Given the description of an element on the screen output the (x, y) to click on. 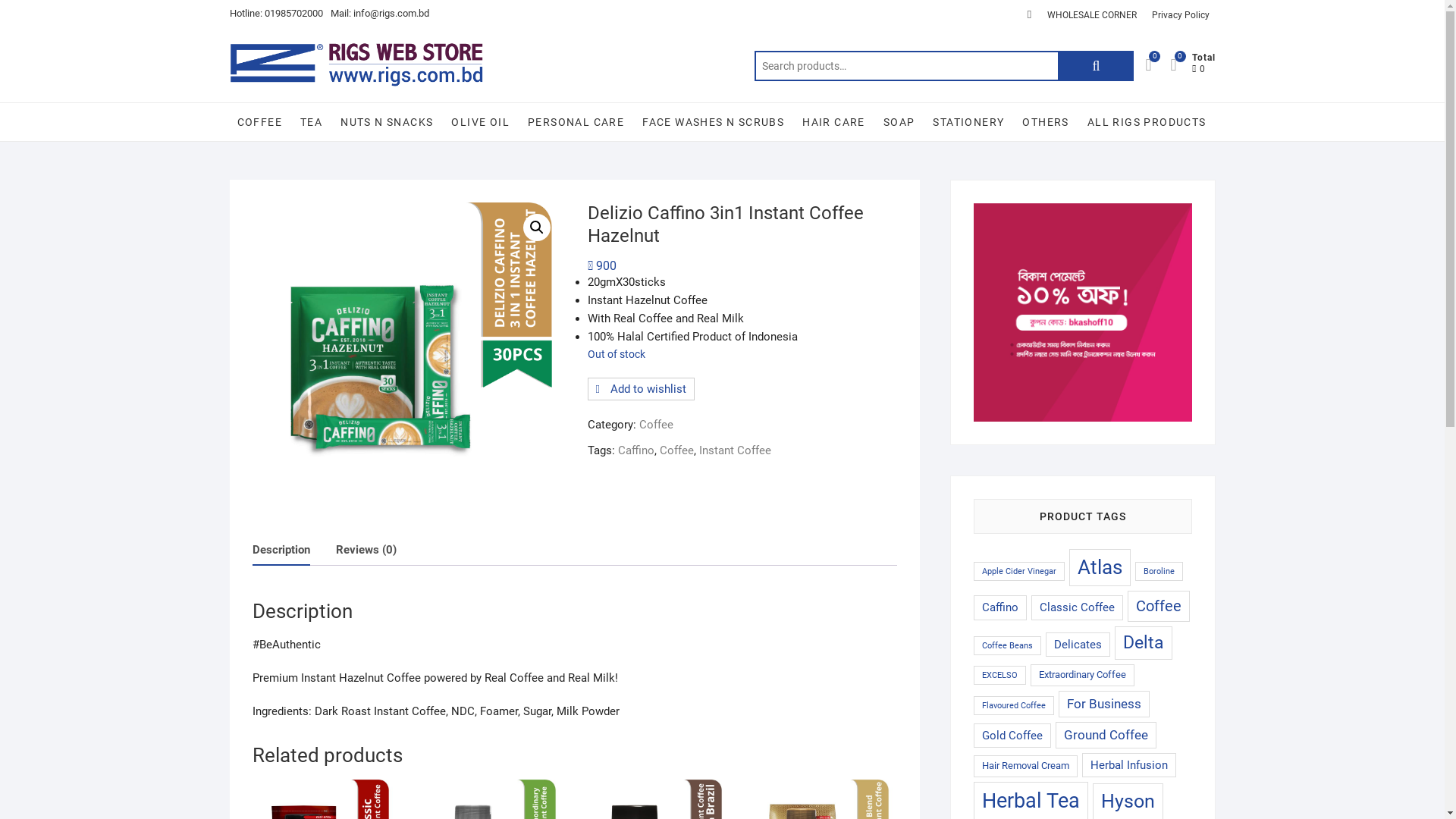
Gold Coffee Element type: text (1012, 735)
NUTS N SNACKS Element type: text (386, 122)
Delta Element type: text (1143, 643)
0 Element type: text (1180, 64)
Hair Removal Cream Element type: text (1025, 766)
Coffee Element type: text (1157, 605)
Classic Coffee Element type: text (1077, 607)
Caffino Element type: text (635, 450)
HAIR CARE Element type: text (833, 122)
WHOLESALE CORNER Element type: text (1091, 14)
Apple Cider Vinegar Element type: text (1018, 570)
FACE WASHES N SCRUBS Element type: text (712, 122)
0 Element type: text (1155, 64)
Reviews (0) Element type: text (365, 549)
STATIONERY Element type: text (968, 122)
Caffino Element type: text (999, 607)
Coffee Element type: text (676, 450)
COFFEE Element type: text (258, 122)
Mail: info@rigs.com.bd Element type: text (379, 13)
Description Element type: text (280, 549)
SOAP Element type: text (898, 122)
Boroline Element type: text (1158, 570)
PERSONAL CARE Element type: text (575, 122)
Delicates Element type: text (1076, 644)
facebook Element type: text (1028, 14)
Instant Coffee Element type: text (735, 450)
ALL RIGS PRODUCTS Element type: text (1146, 122)
Coffee Beans Element type: text (1007, 645)
Extraordinary Coffee Element type: text (1081, 675)
For Business Element type: text (1103, 703)
EXCELSO Element type: text (999, 674)
Ground Coffee Element type: text (1105, 734)
Add to wishlist Element type: text (639, 388)
Herbal Infusion Element type: text (1128, 765)
Atlas Element type: text (1099, 567)
Privacy Policy Element type: text (1179, 14)
OTHERS Element type: text (1045, 122)
Delizio Caffino 3in1 Instant Coffee Hazelnut Element type: hover (406, 356)
Hotline: 01985702000 Element type: text (275, 13)
Search Element type: text (1095, 65)
Flavoured Coffee Element type: text (1013, 705)
TEA Element type: text (310, 122)
Coffee Element type: text (655, 424)
OLIVE OIL Element type: text (480, 122)
